Given the description of an element on the screen output the (x, y) to click on. 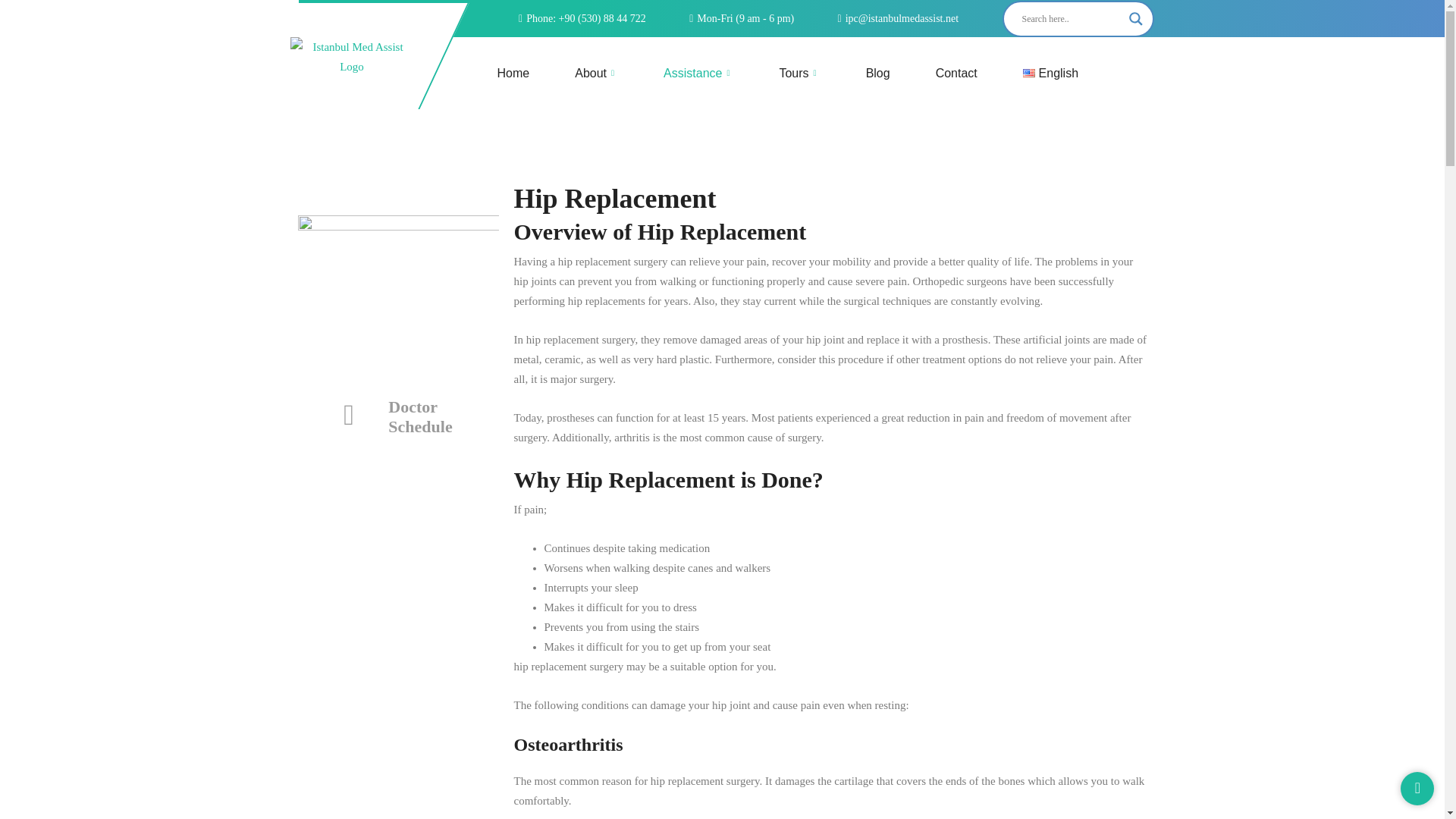
Home (513, 72)
Assistance (697, 72)
About (595, 72)
